Given the description of an element on the screen output the (x, y) to click on. 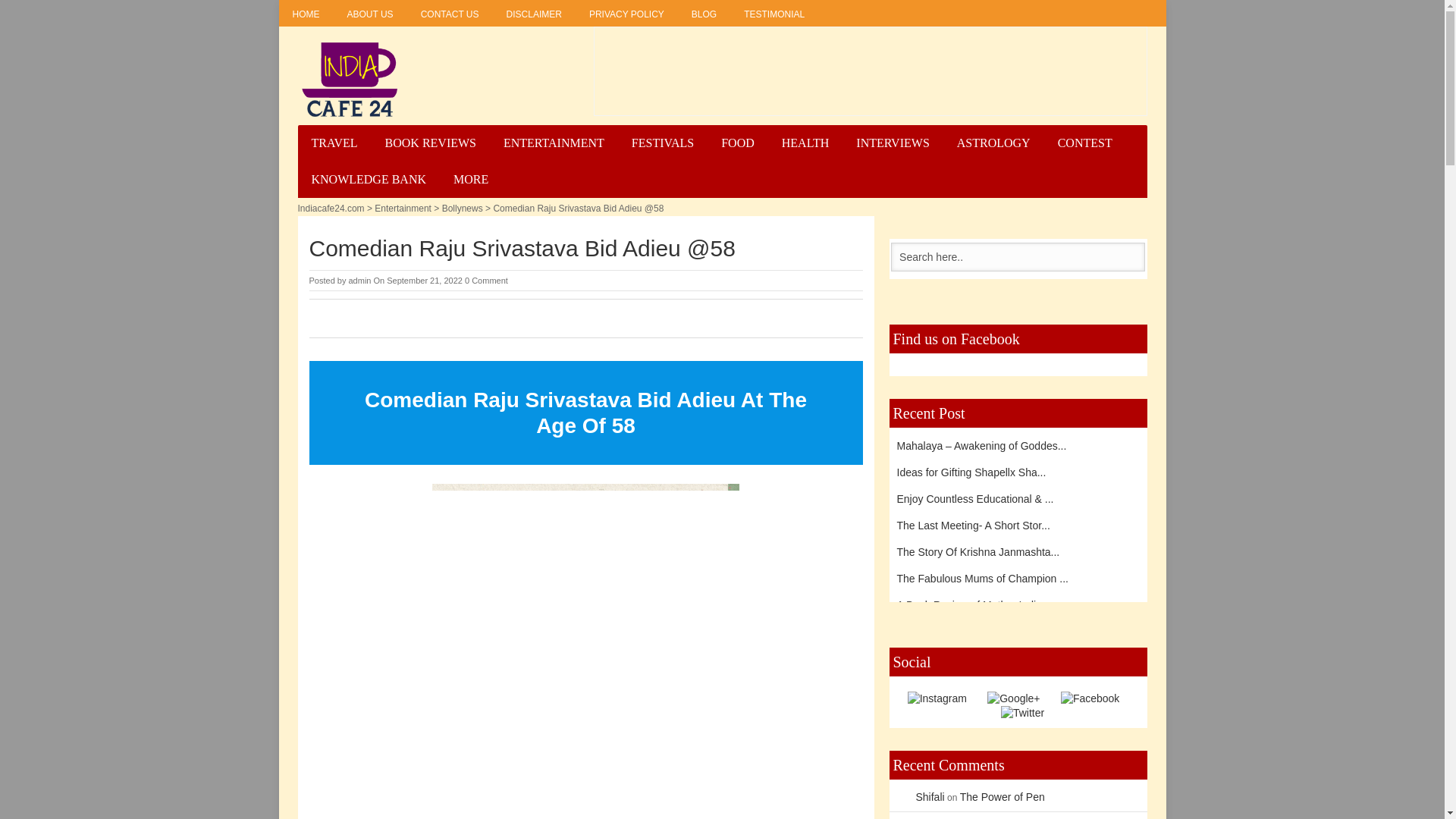
FOOD (737, 143)
Posts by admin (359, 280)
Search here.. (1017, 256)
Facebook (1090, 697)
Indiacafe24.com (349, 79)
Twitter (1022, 712)
TESTIMONIAL (774, 13)
Go to the Bollynews category archives. (462, 208)
BLOG (704, 13)
KNOWLEDGE BANK (368, 179)
